Given the description of an element on the screen output the (x, y) to click on. 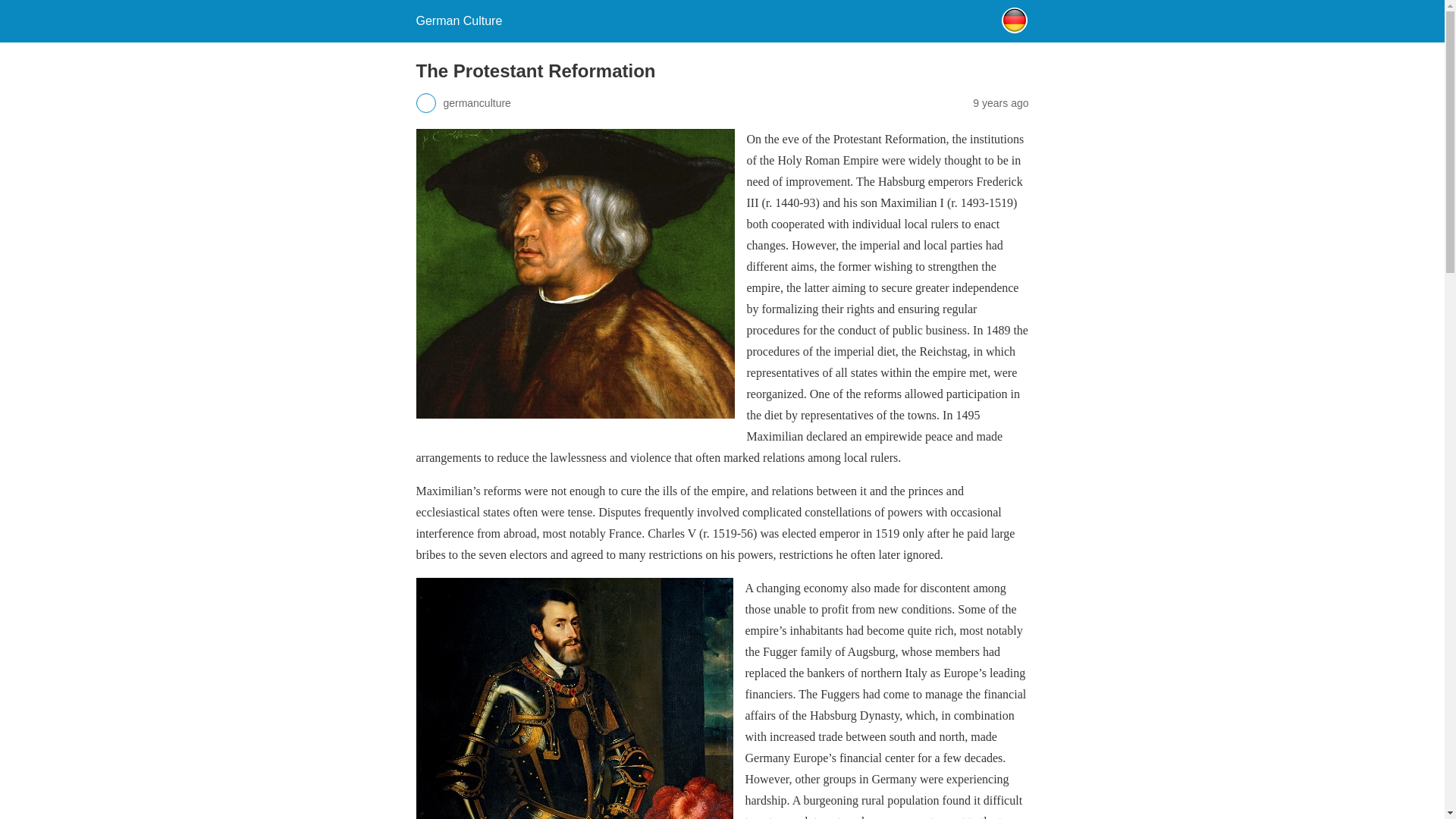
German Culture (458, 20)
Emperor charles v (573, 698)
Kaiser Maximilian I (573, 273)
